Given the description of an element on the screen output the (x, y) to click on. 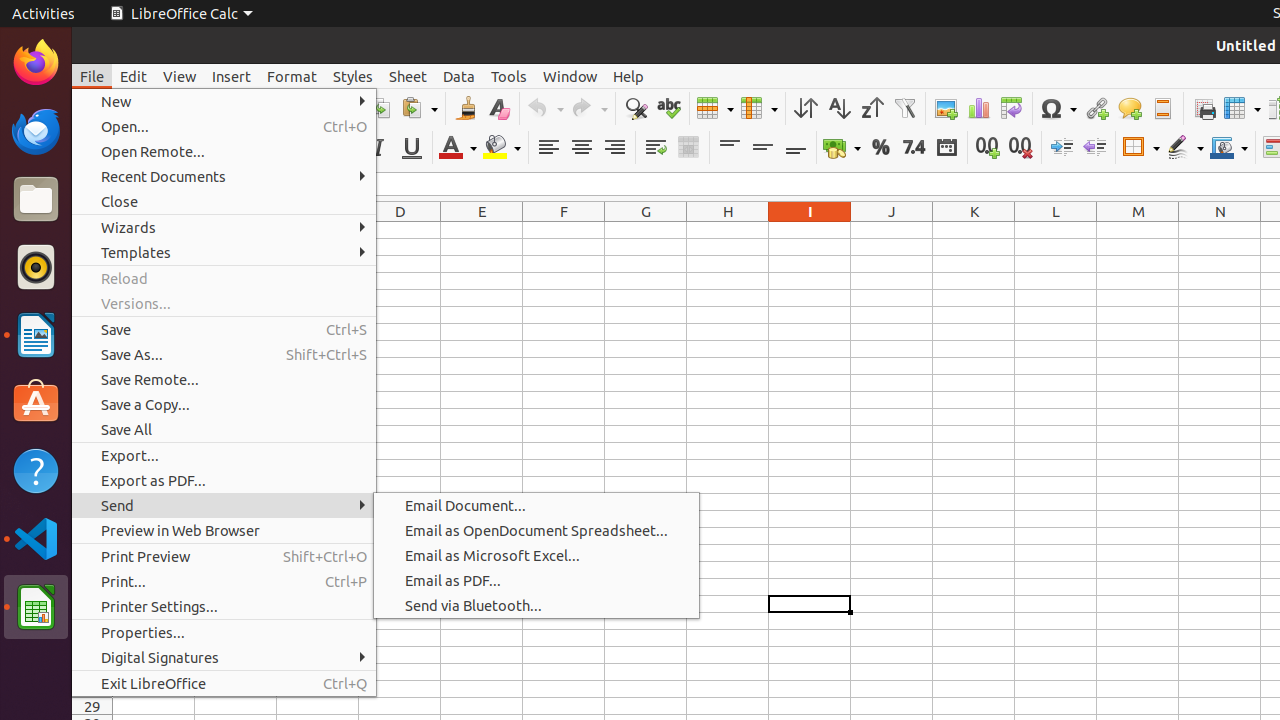
Undo Element type: push-button (545, 108)
F1 Element type: table-cell (564, 230)
Spelling Element type: push-button (668, 108)
Borders (Shift to overwrite) Element type: push-button (1141, 147)
Save All Element type: menu-item (224, 429)
